Given the description of an element on the screen output the (x, y) to click on. 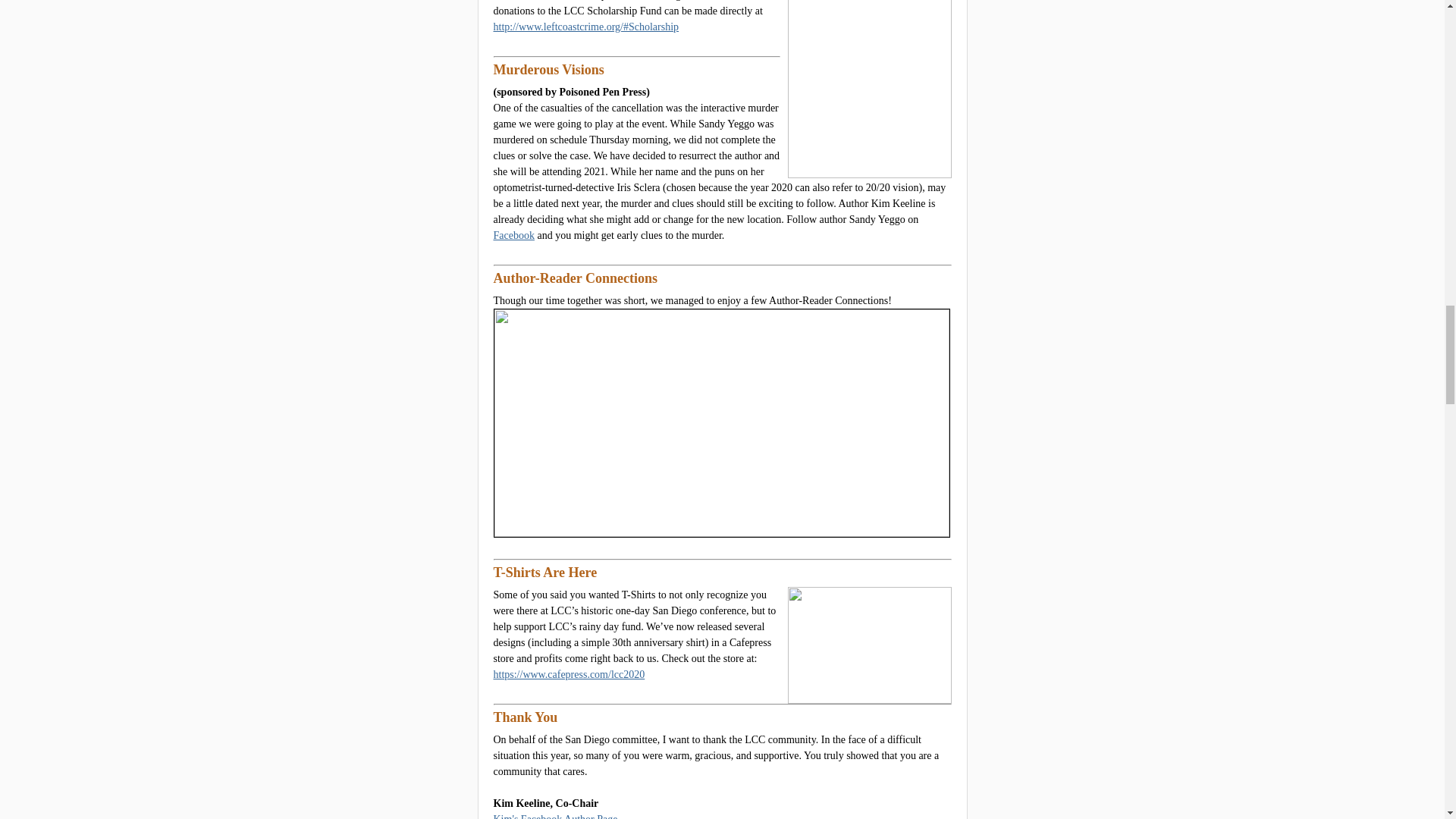
Kim's Facebook Author Page (555, 816)
Facebook (513, 235)
